Given the description of an element on the screen output the (x, y) to click on. 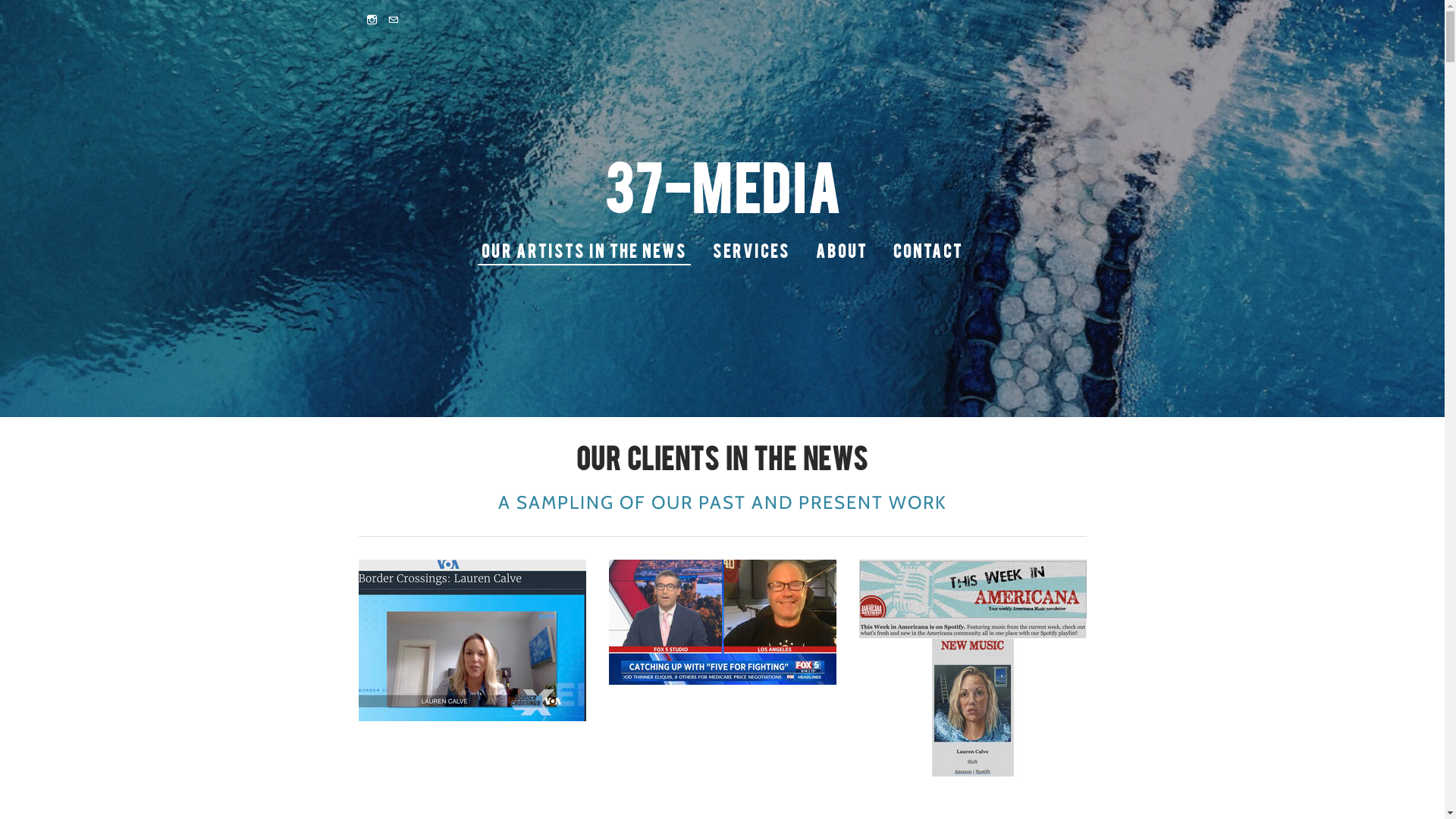
37-MEDIA Element type: text (721, 184)
ABOUT Element type: text (841, 250)
OUR ARTISTS IN THE NEWS Element type: text (583, 250)
SERVICES Element type: text (751, 250)
CONTACT Element type: text (927, 250)
